Given the description of an element on the screen output the (x, y) to click on. 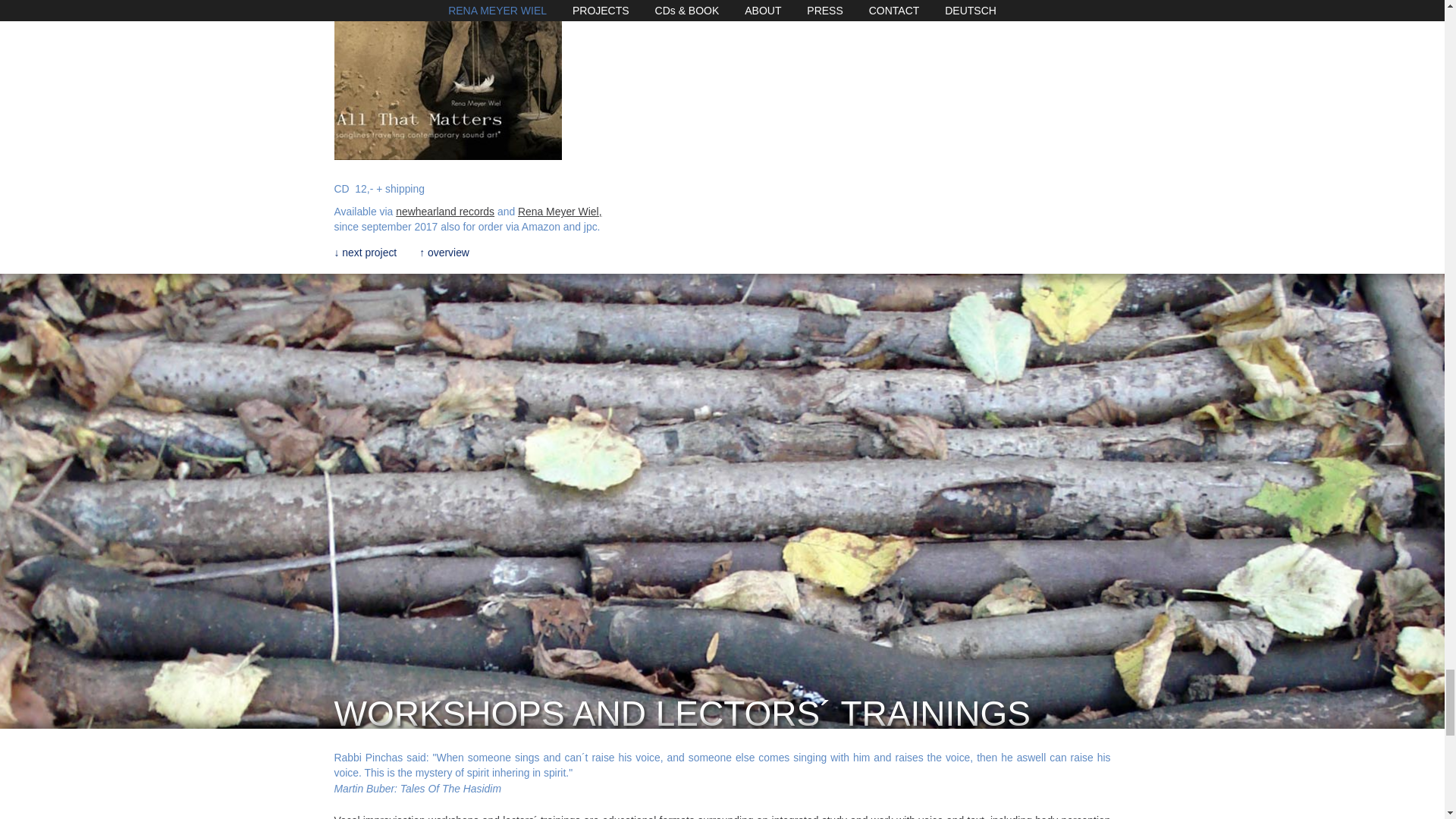
Rena Meyer Wiel, (560, 211)
newhearland records (445, 211)
